Given the description of an element on the screen output the (x, y) to click on. 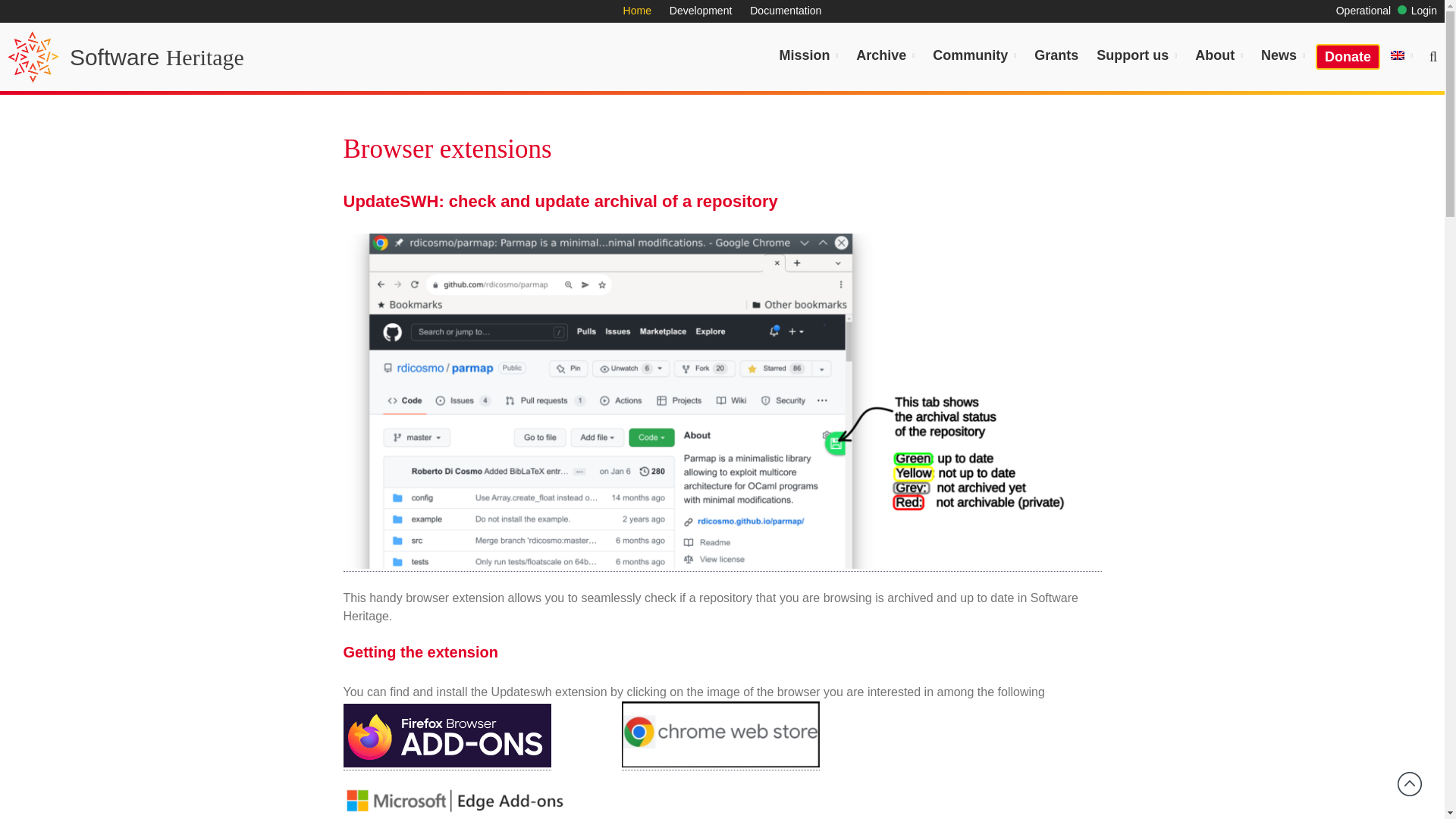
English (1402, 55)
